Given the description of an element on the screen output the (x, y) to click on. 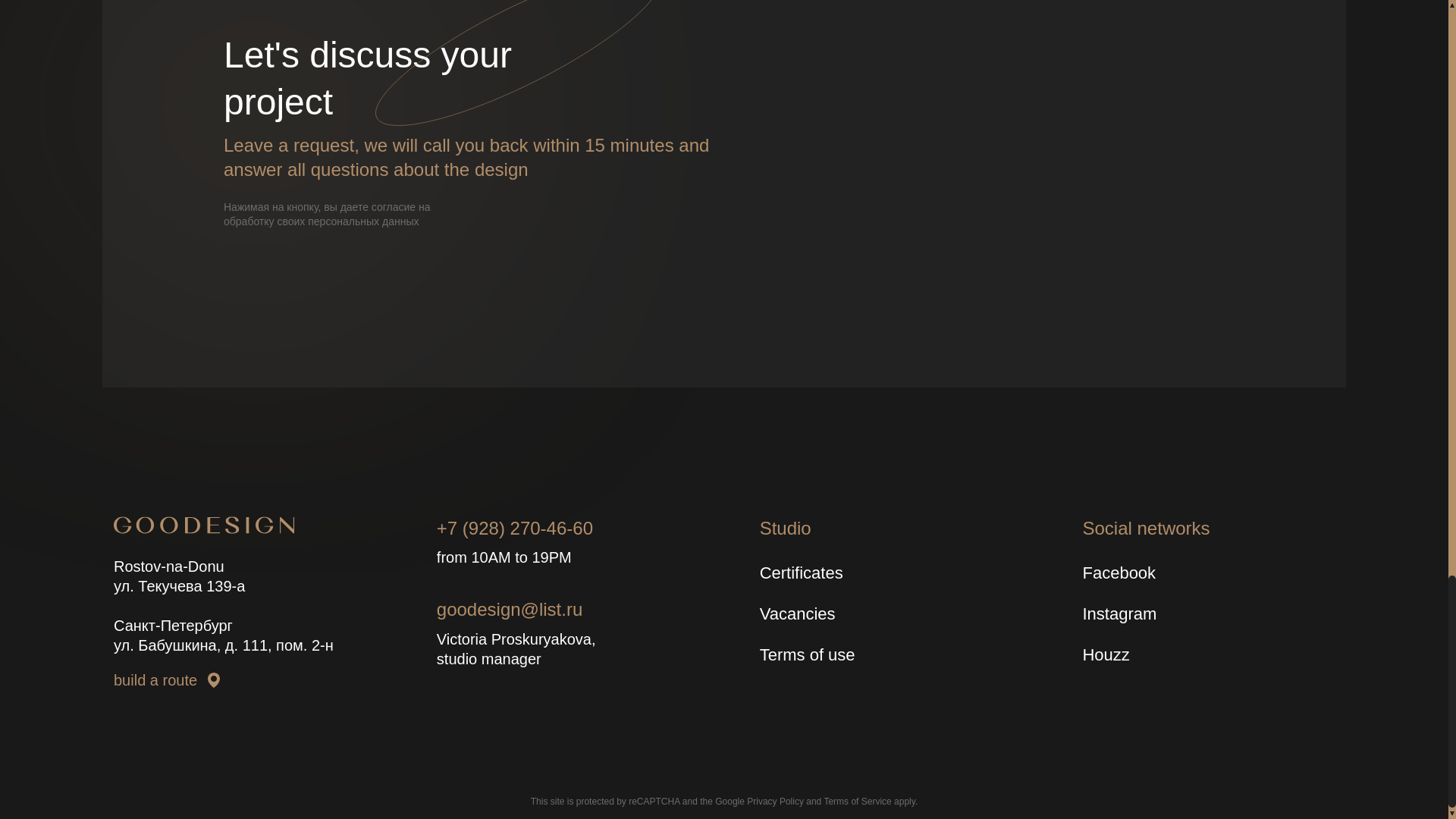
Privacy Policy (774, 801)
Instagram (1165, 614)
Houzz (1165, 655)
Vacancies (843, 614)
Terms of Service (857, 801)
Terms of use (843, 655)
build a route (239, 680)
Call me (1034, 222)
Certificates (843, 573)
Facebook (1165, 573)
